Given the description of an element on the screen output the (x, y) to click on. 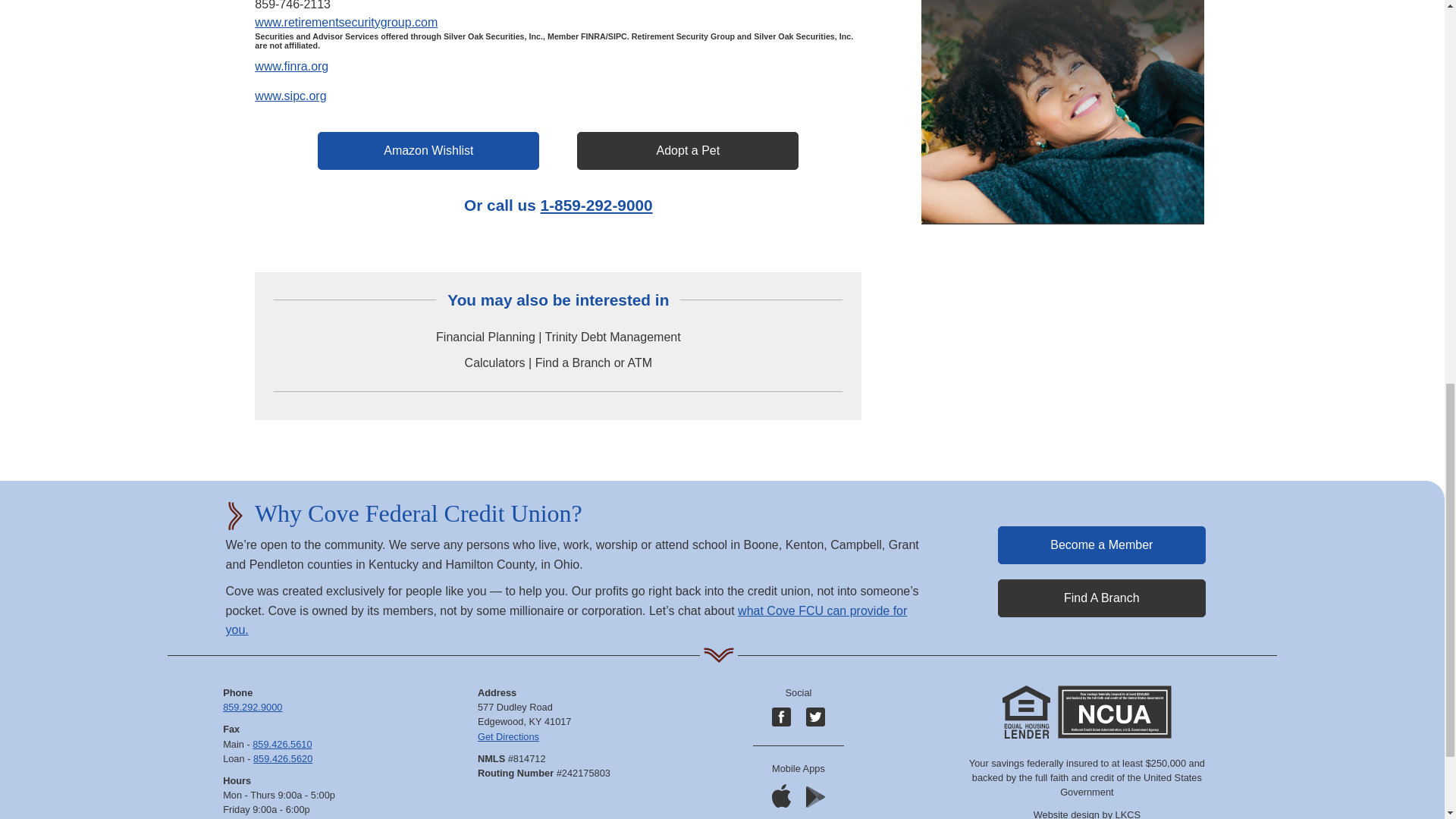
NCUA (1115, 711)
android googlePlay (815, 796)
Follow us on twitter (815, 716)
facebook (780, 716)
Equal Housing Lender (1026, 711)
